Given the description of an element on the screen output the (x, y) to click on. 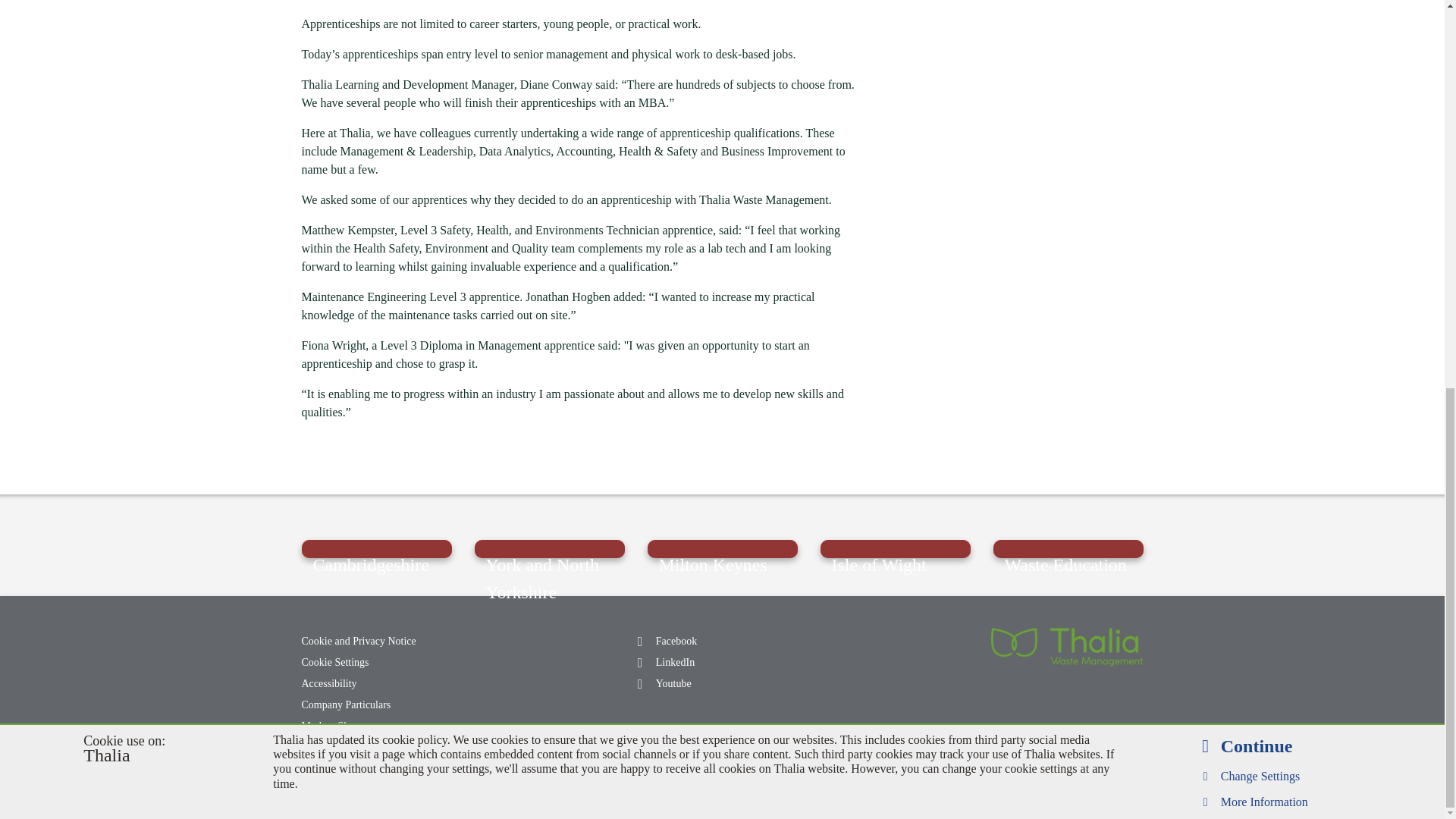
Cookie and Privacy Notice (373, 641)
Cookie Settings (373, 662)
Waste Education (1067, 548)
York and North Yorkshire (549, 548)
Cambridgeshire (376, 548)
Isle of Wight (896, 548)
Milton Keynes (722, 548)
